Given the description of an element on the screen output the (x, y) to click on. 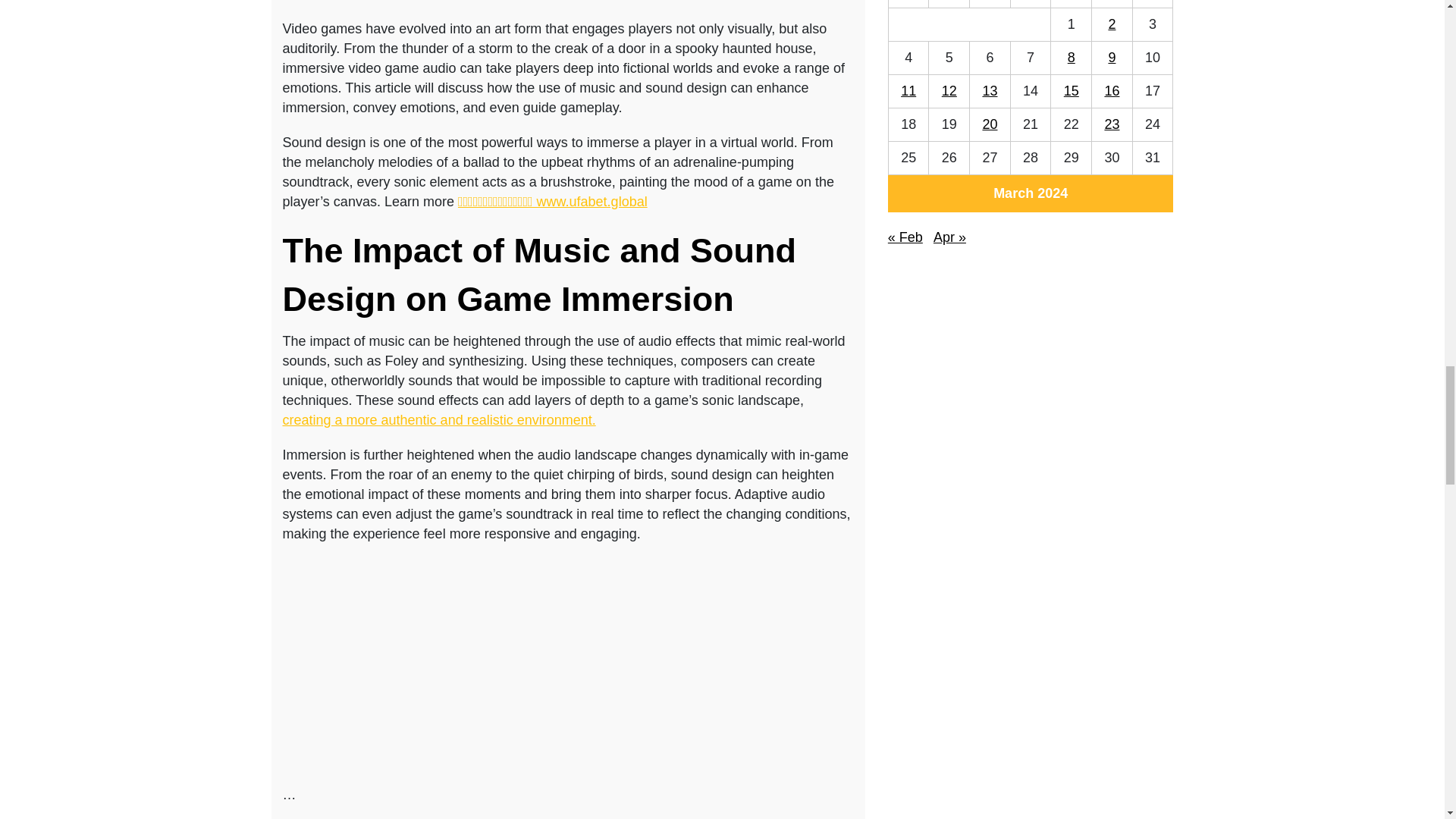
Tuesday (948, 3)
Thursday (1030, 3)
Monday (908, 3)
Sunday (1152, 3)
creating a more authentic and realistic environment. (438, 419)
Wednesday (989, 3)
Friday (1071, 3)
Saturday (1112, 3)
